Given the description of an element on the screen output the (x, y) to click on. 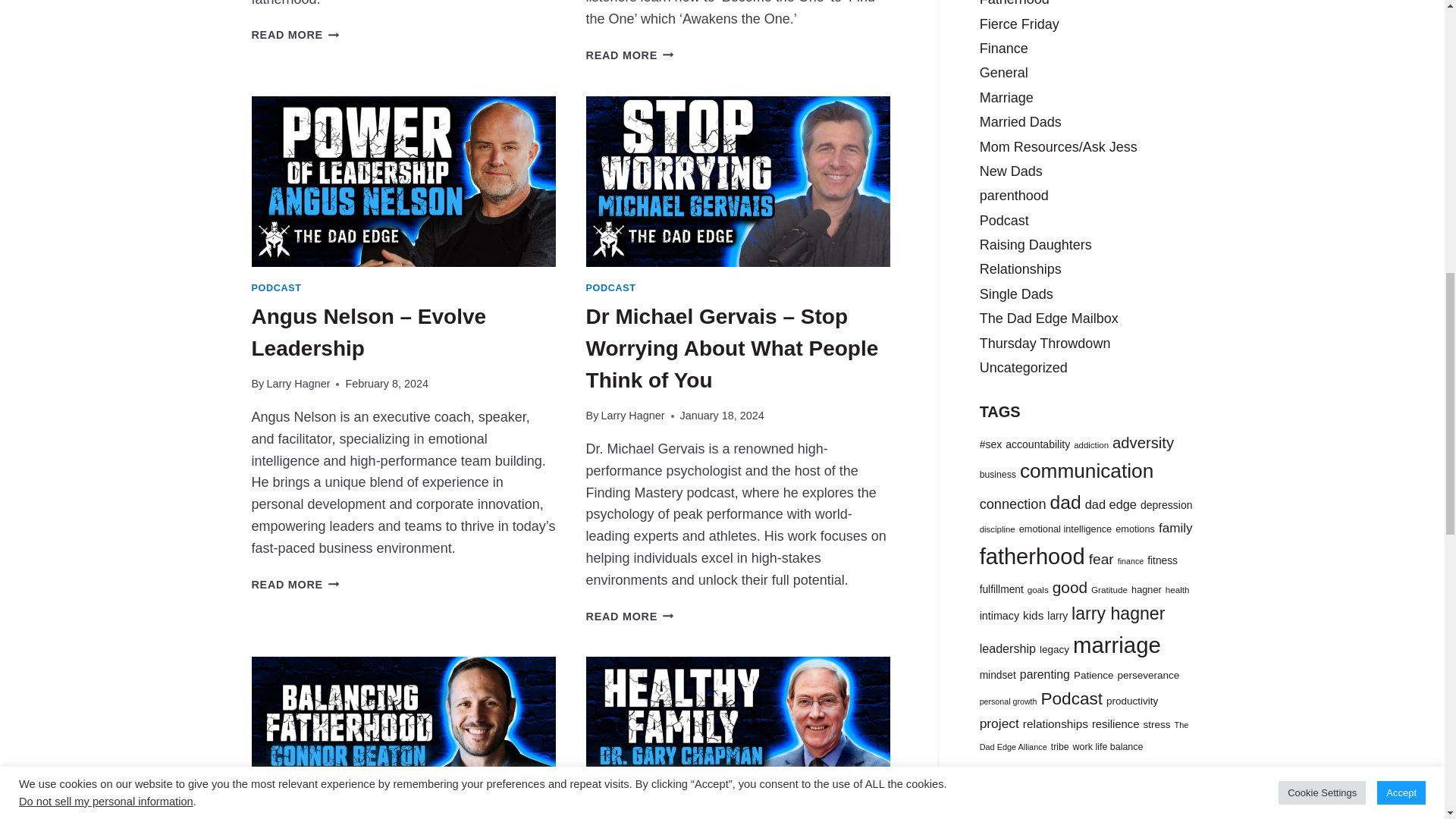
PODCAST (611, 287)
Larry Hagner (298, 383)
Larry Hagner (633, 415)
PODCAST (276, 287)
